Given the description of an element on the screen output the (x, y) to click on. 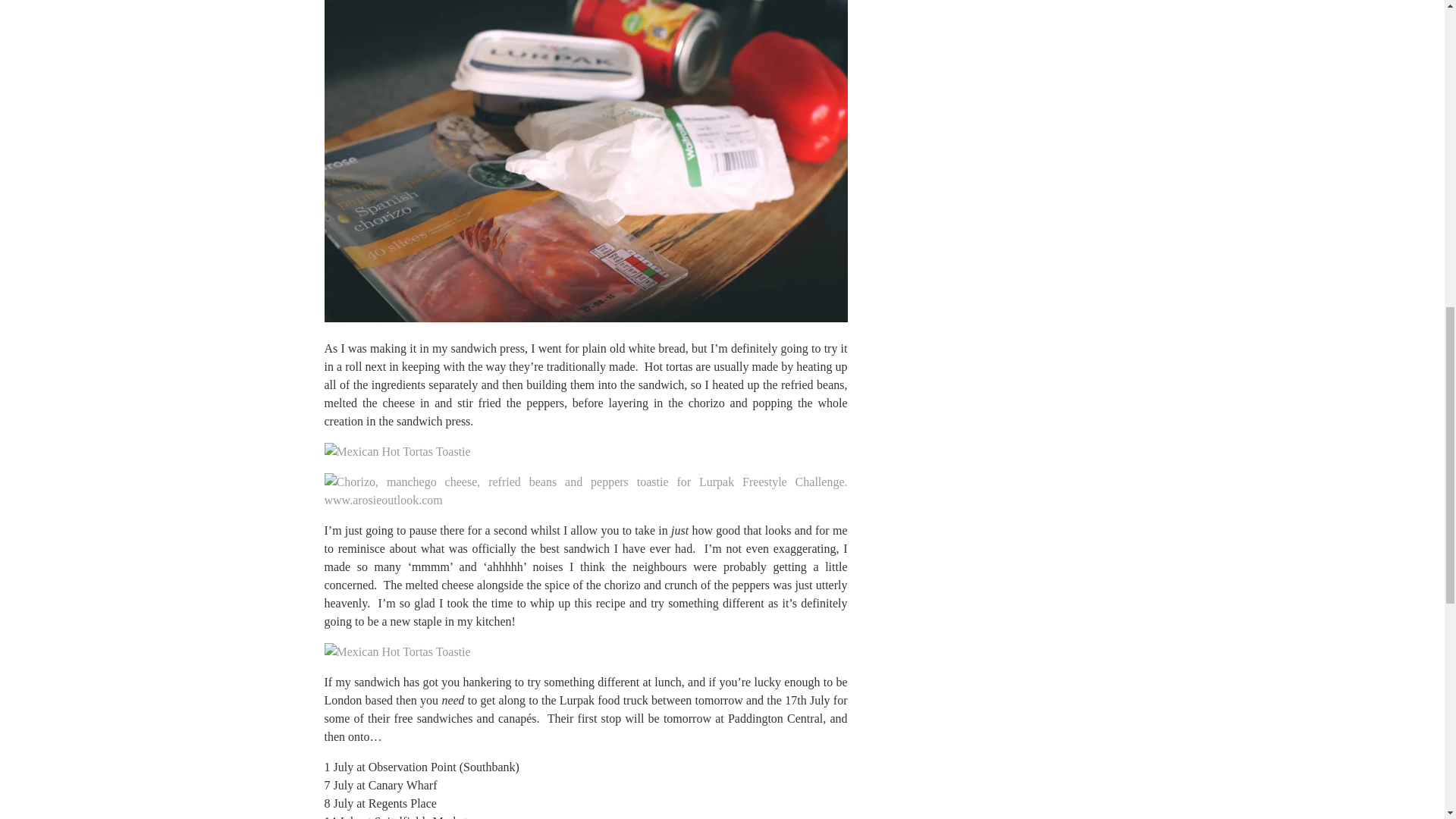
Mexican Hot Tortas Toastie by rosietapping, on Flickr (585, 318)
Mexican Hot Tortas Toastie by rosietapping, on Flickr (397, 651)
Mexican Hot Tortas Toastie by rosietapping, on Flickr (397, 451)
